Given the description of an element on the screen output the (x, y) to click on. 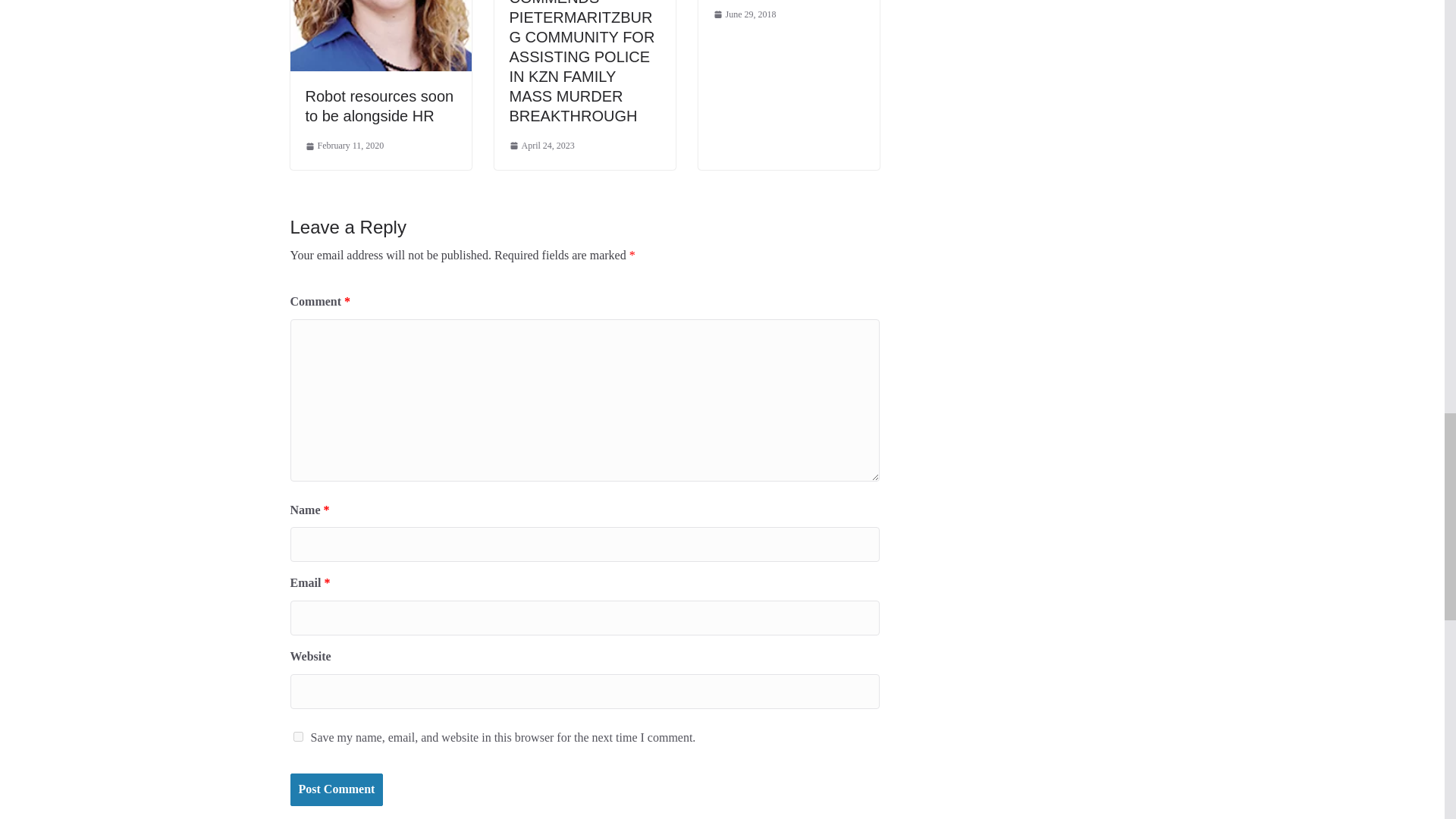
5:16 pm (542, 146)
February 11, 2020 (344, 146)
yes (297, 737)
April 24, 2023 (542, 146)
Post Comment (335, 789)
8:43 am (344, 146)
Robot resources soon to be alongside HR (378, 105)
Robot resources soon to be alongside HR (378, 105)
